Given the description of an element on the screen output the (x, y) to click on. 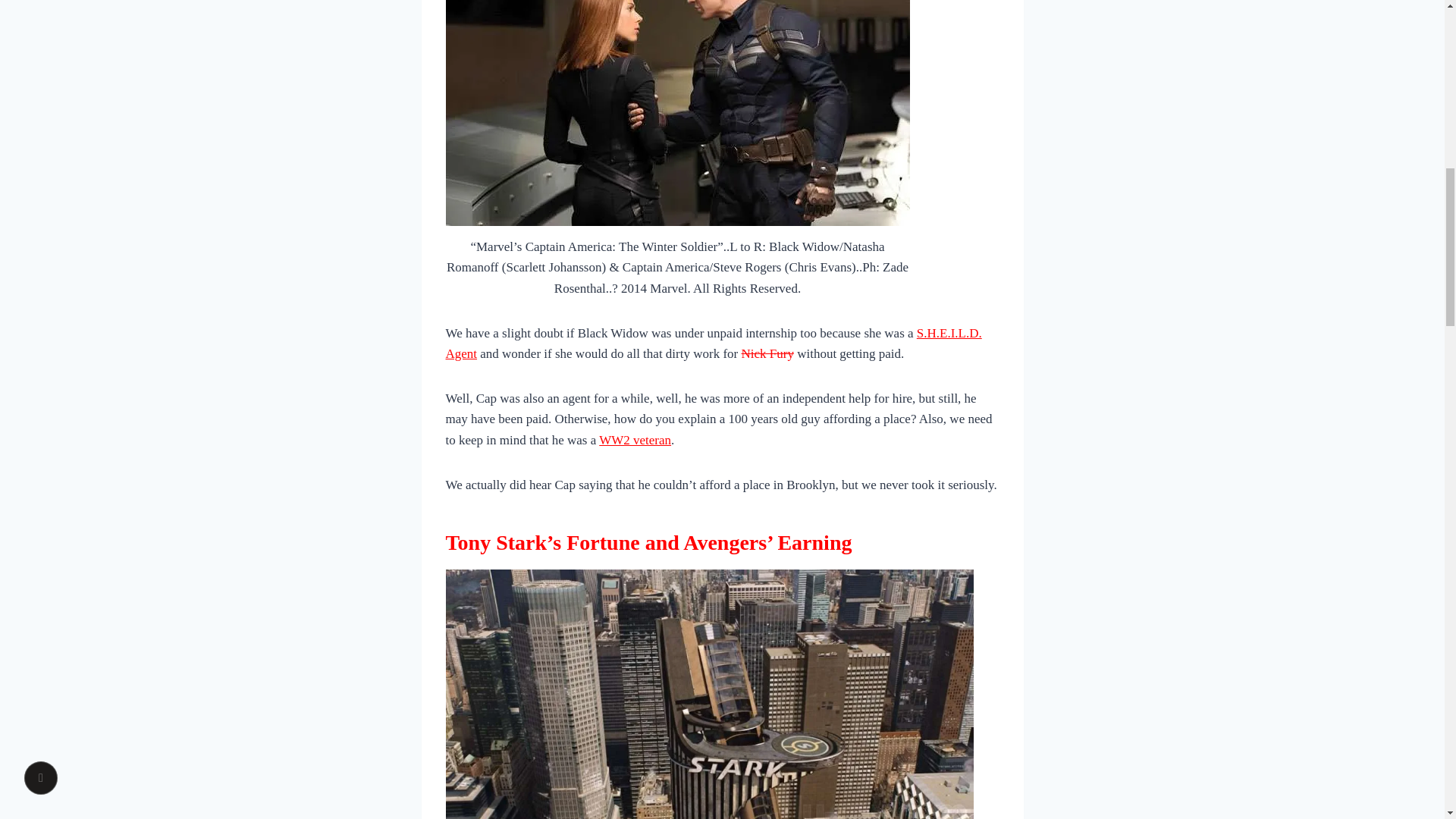
Nick Fury (767, 353)
WW2 veteran (634, 440)
S.H.E.I.L.D. Agent (713, 343)
